Given the description of an element on the screen output the (x, y) to click on. 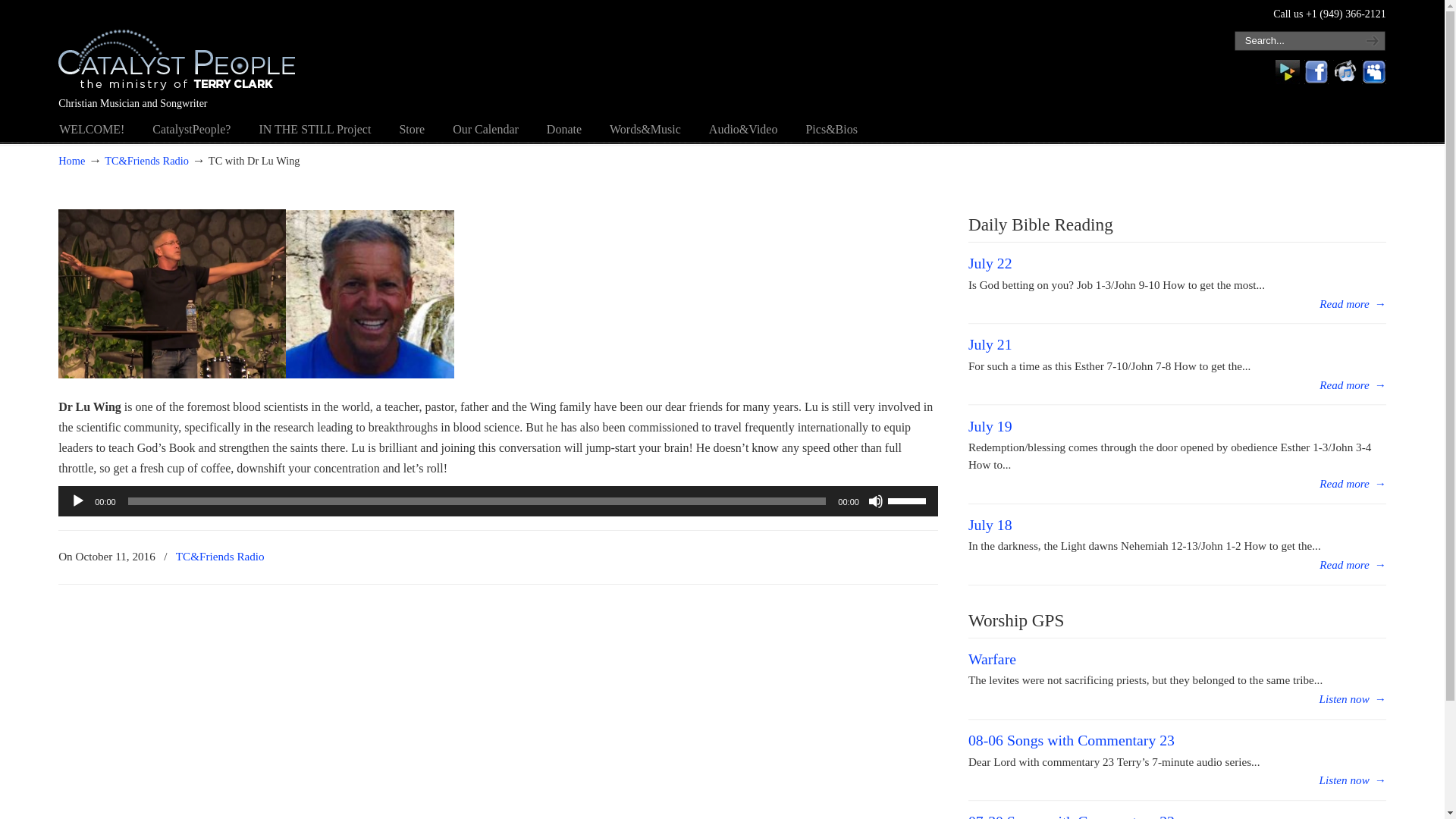
July 21 (989, 343)
search (1370, 40)
July 19 (989, 425)
Donate (563, 129)
July 22 (1352, 303)
July 22 (989, 262)
Play (77, 500)
July 18 (989, 524)
Terry Clark Christian Musician and Songwriter (176, 49)
July 21 (1352, 384)
Mute (875, 500)
Store (411, 129)
Search... (1294, 40)
CatalystPeople? (191, 129)
search (1370, 40)
